Given the description of an element on the screen output the (x, y) to click on. 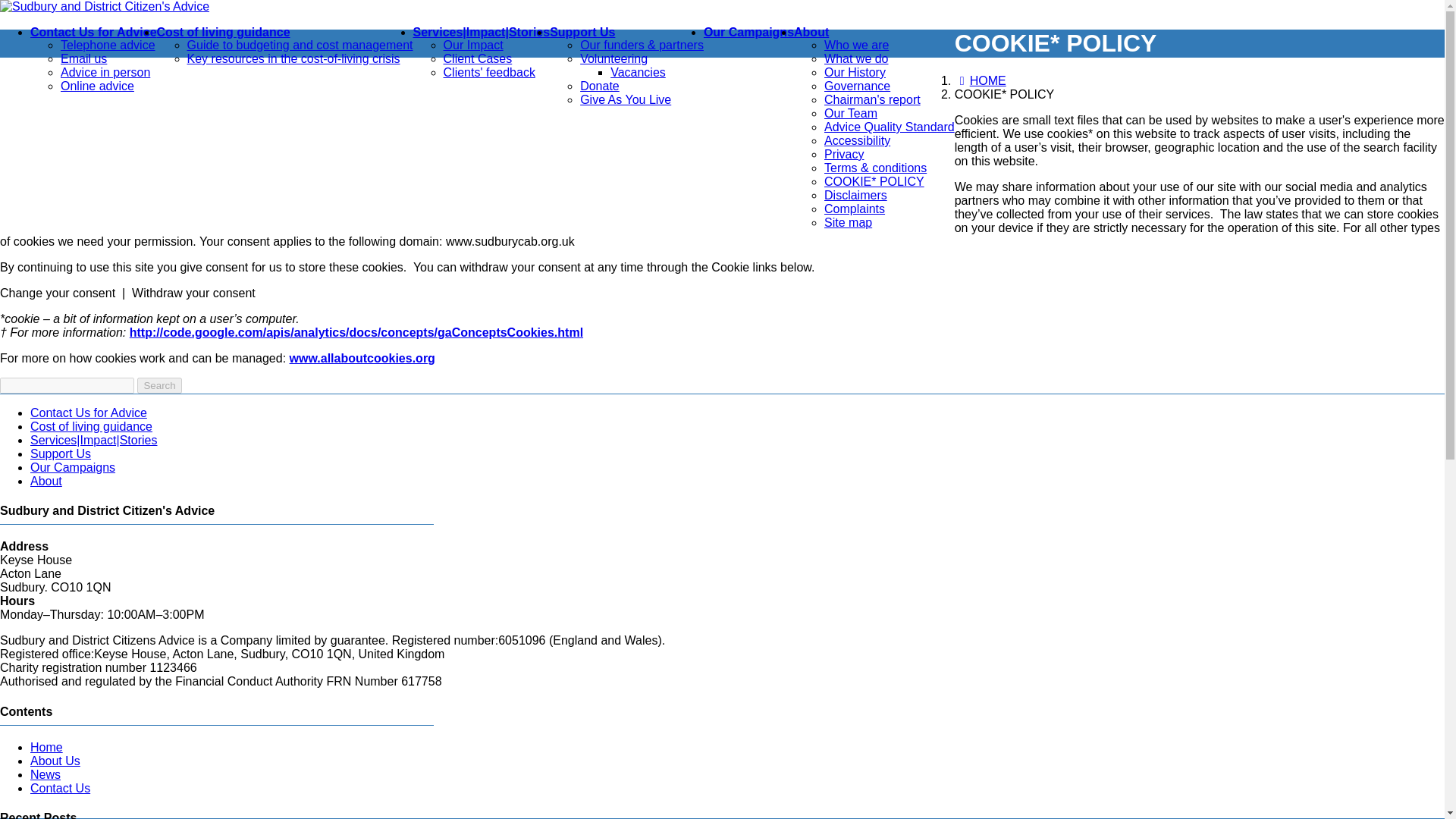
Our Team (850, 113)
Guide to budgeting and cost management (300, 44)
HOME (980, 80)
Give As You Live (625, 99)
Chairman's report (872, 99)
Clients' feedback (489, 72)
Online advice (97, 85)
Advice in person (105, 72)
Telephone advice (108, 44)
Complaints (854, 208)
